Given the description of an element on the screen output the (x, y) to click on. 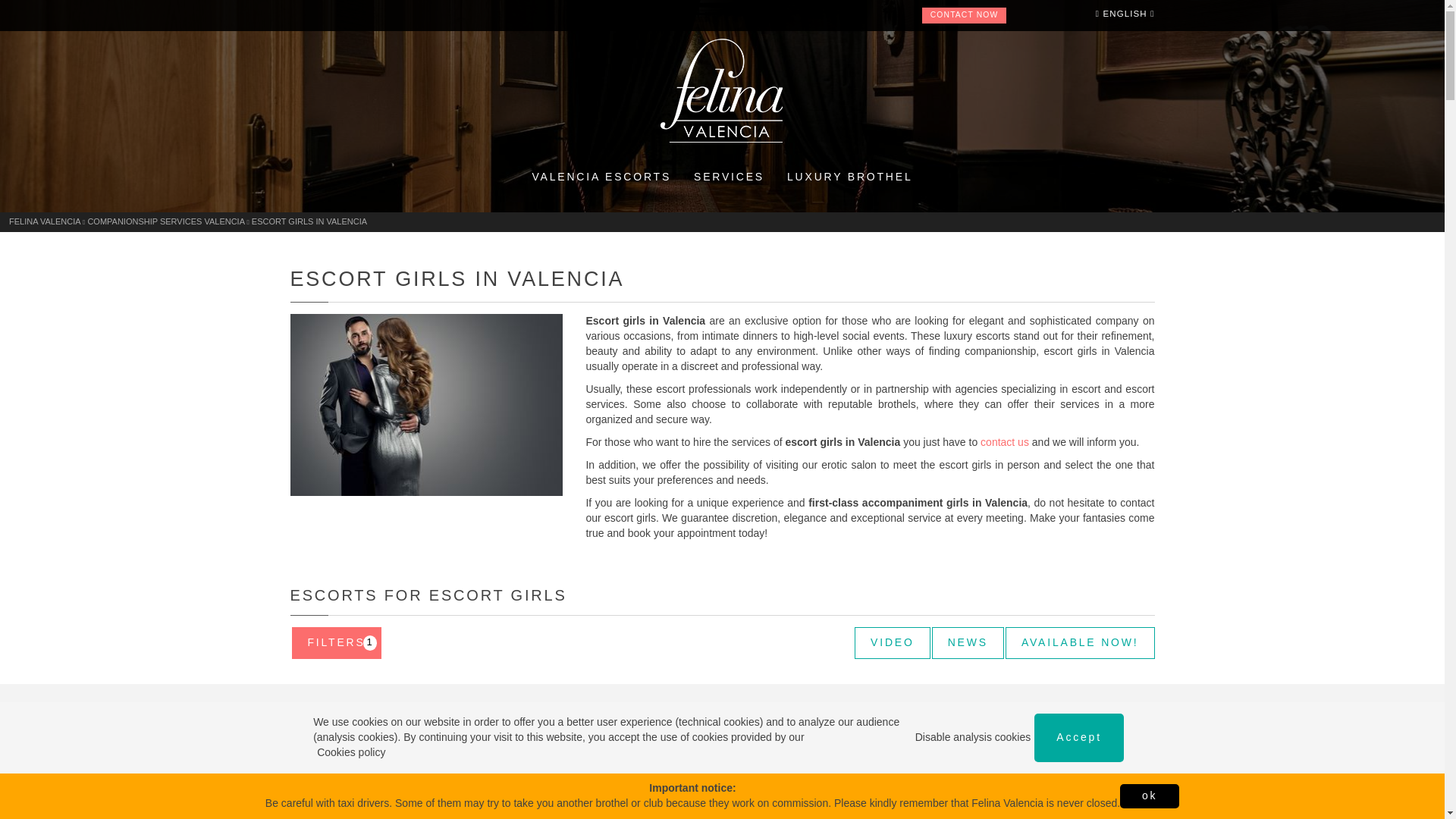
SERVICES (335, 643)
LUXURY BROTHEL (833, 762)
Sexual and Escort Services in Valencia (729, 176)
Marcela (850, 176)
contact us (729, 176)
AVAILABLE NOW! (833, 762)
VIDEO (1004, 441)
Sofia (1080, 643)
Melissa (892, 643)
Megan (389, 762)
VALENCIA ESCORTS (611, 762)
